Given the description of an element on the screen output the (x, y) to click on. 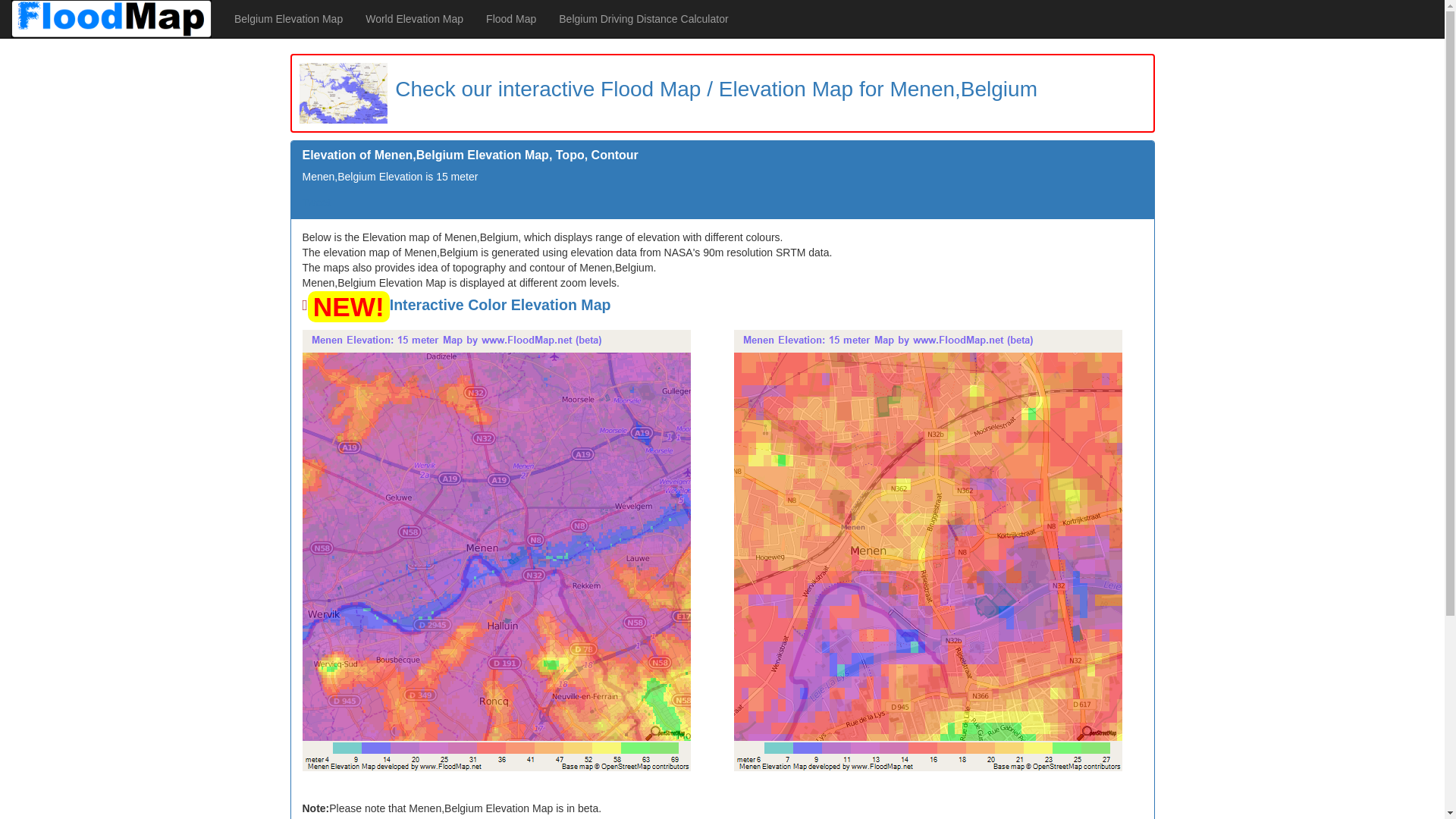
Flood Map (510, 18)
Belgium Elevation Map (287, 18)
Tweet (315, 202)
Belgium Driving Distance Calculator (643, 18)
World Elevation Map (413, 18)
Interactive Color Elevation Map (500, 304)
